Given the description of an element on the screen output the (x, y) to click on. 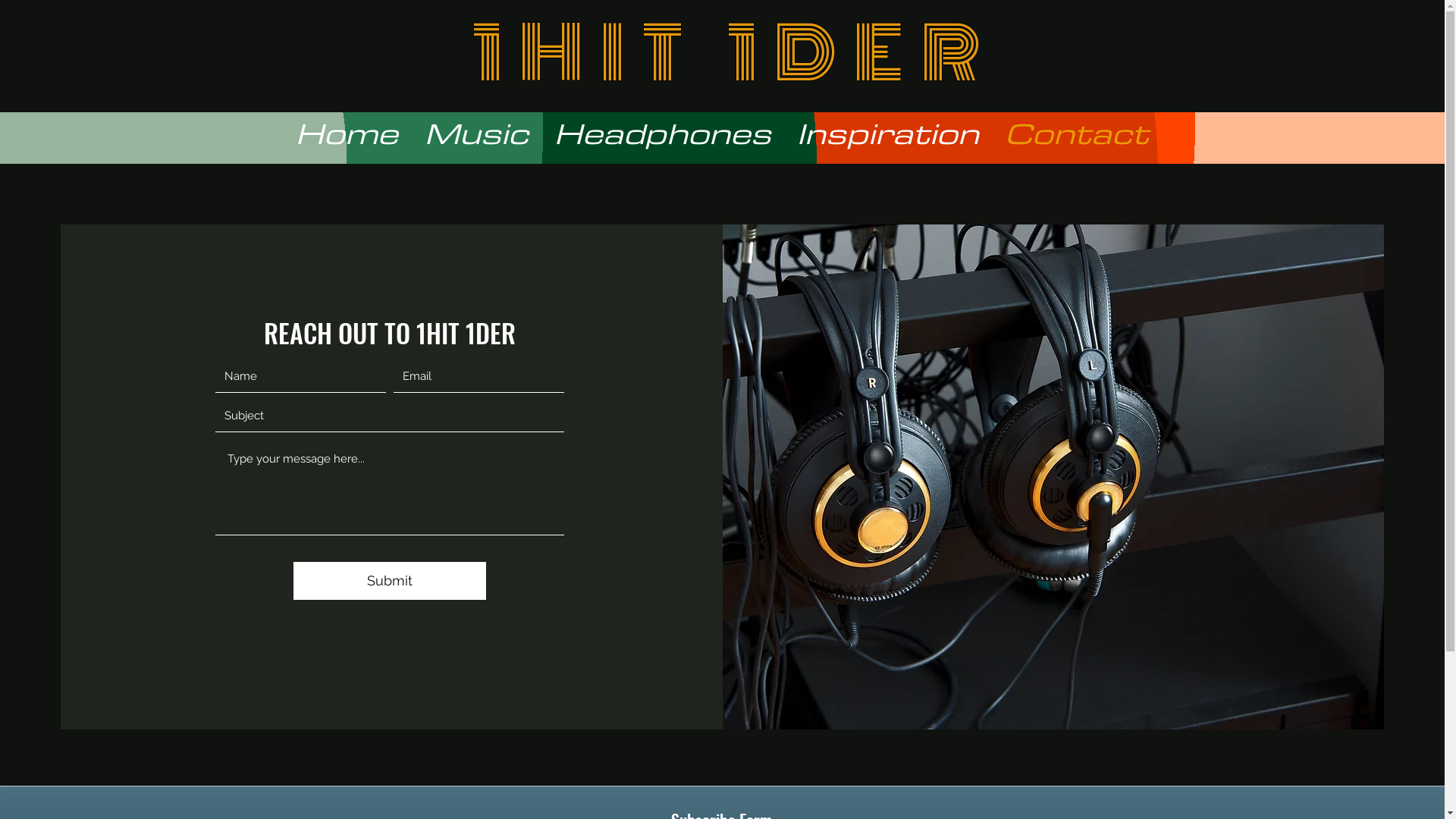
Home Element type: text (346, 133)
Music Element type: text (475, 133)
Headphones Element type: text (662, 133)
Contact Element type: text (1076, 133)
Inspiration Element type: text (887, 133)
Submit Element type: text (389, 580)
